Given the description of an element on the screen output the (x, y) to click on. 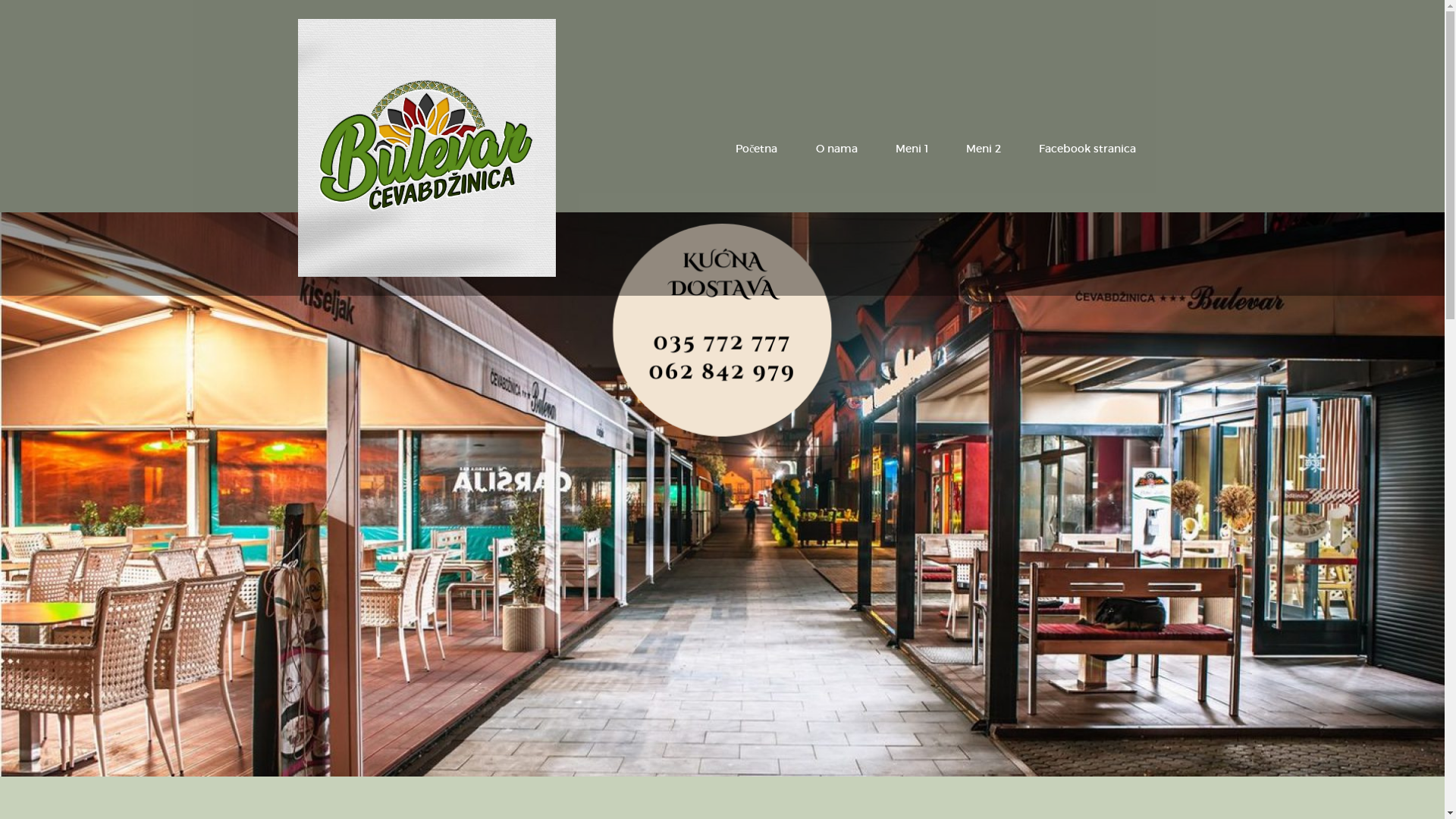
Advertisement Element type: hover (455, 106)
Meni 2 Element type: text (982, 148)
Meni 1 Element type: text (911, 148)
Facebook stranica Element type: text (1086, 148)
O nama Element type: text (835, 148)
